Given the description of an element on the screen output the (x, y) to click on. 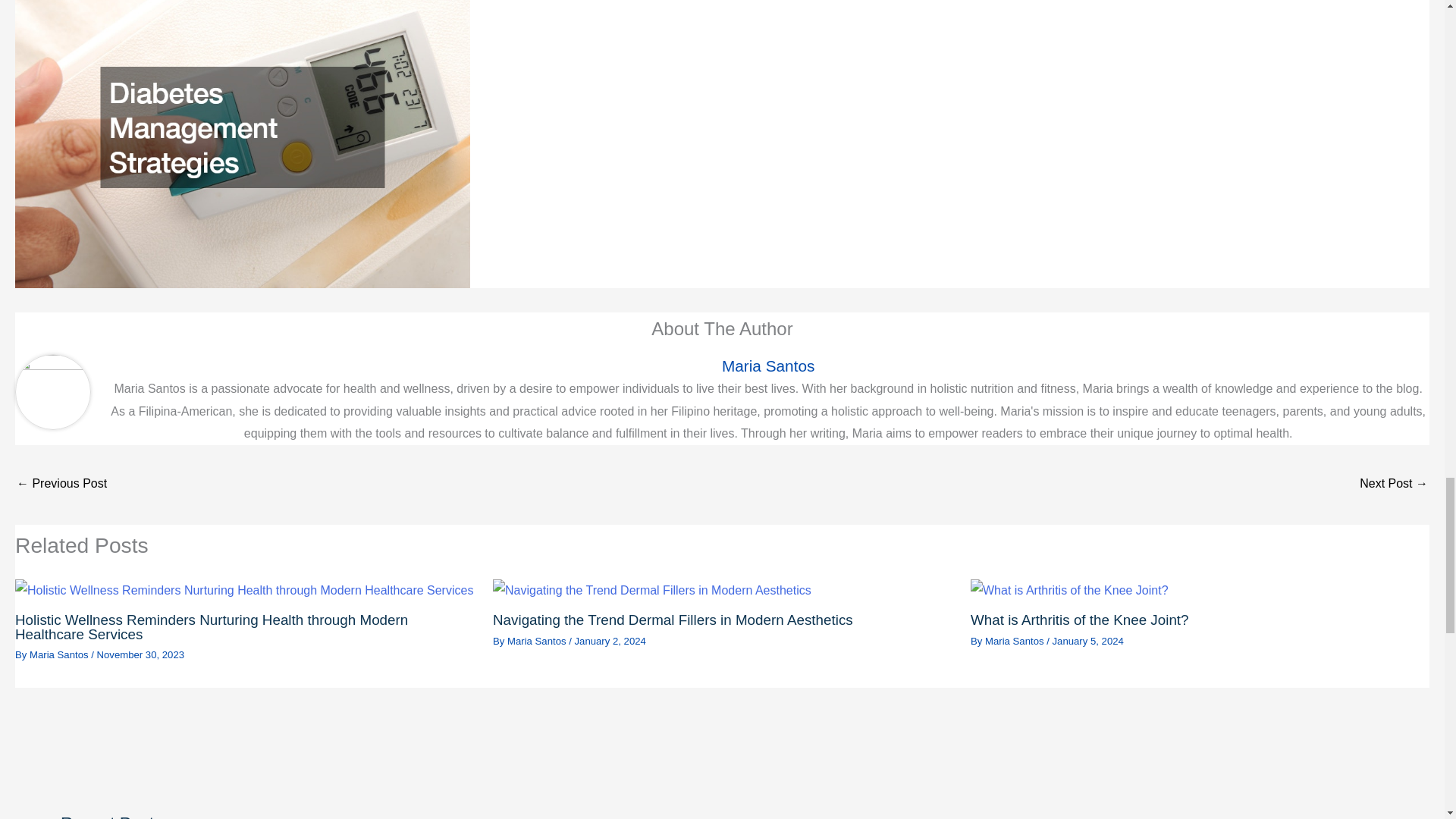
Maria Santos (767, 365)
View all posts by Maria Santos (1015, 641)
View all posts by Maria Santos (537, 641)
View all posts by Maria Santos (59, 654)
Why Support Groups for OCD Are So Important For Your Health (61, 484)
Maria Santos (537, 641)
Navigating the Trend Dermal Fillers in Modern Aesthetics (673, 619)
Maria Santos (59, 654)
Should You Go to an Urget Care Center or the ER? (1393, 484)
Maria Santos (1015, 641)
